Given the description of an element on the screen output the (x, y) to click on. 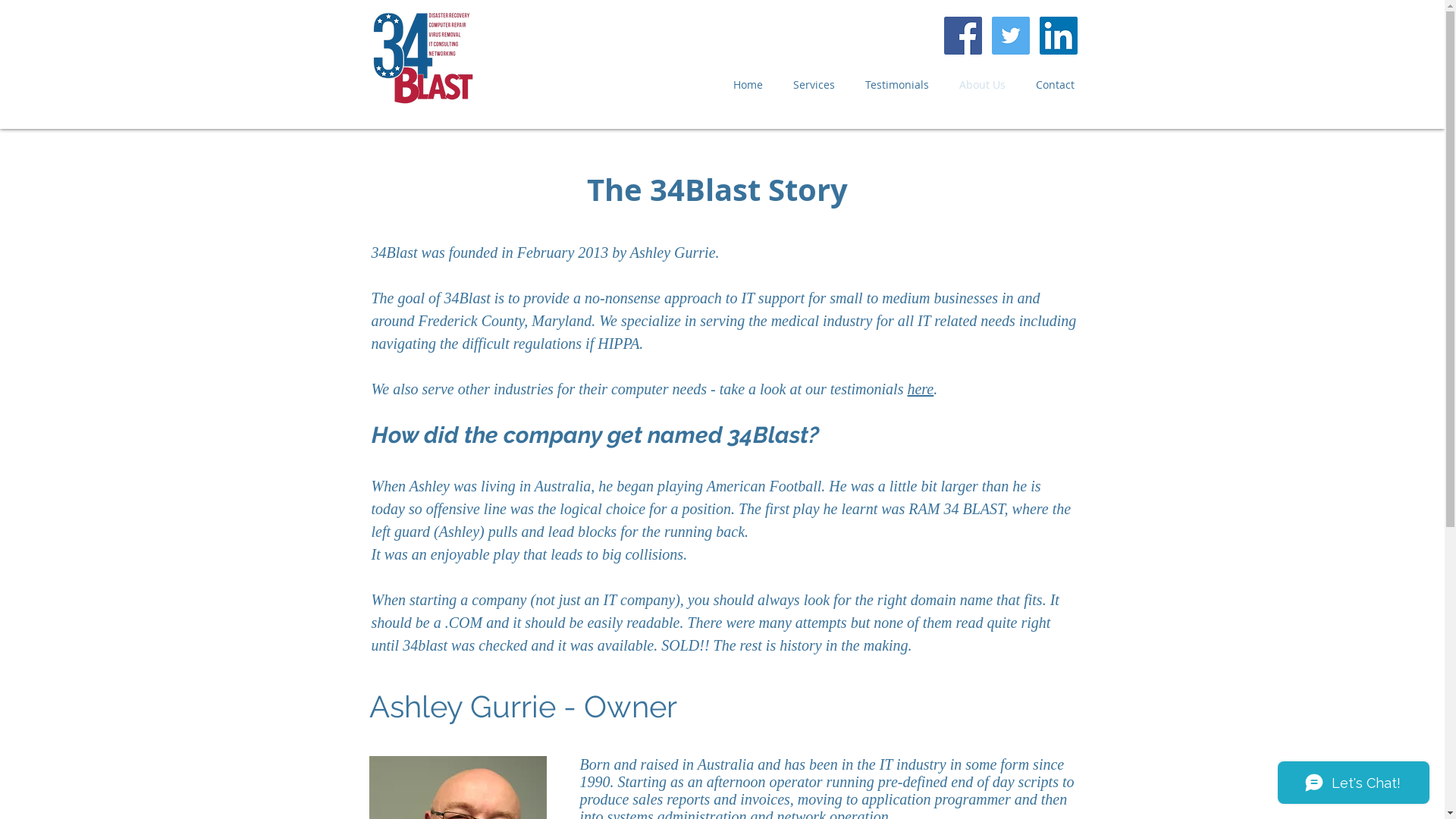
Home Element type: text (747, 84)
here Element type: text (919, 388)
About Us Element type: text (981, 84)
Contact Element type: text (1054, 84)
Services Element type: text (814, 84)
Testimonials Element type: text (896, 84)
